Given the description of an element on the screen output the (x, y) to click on. 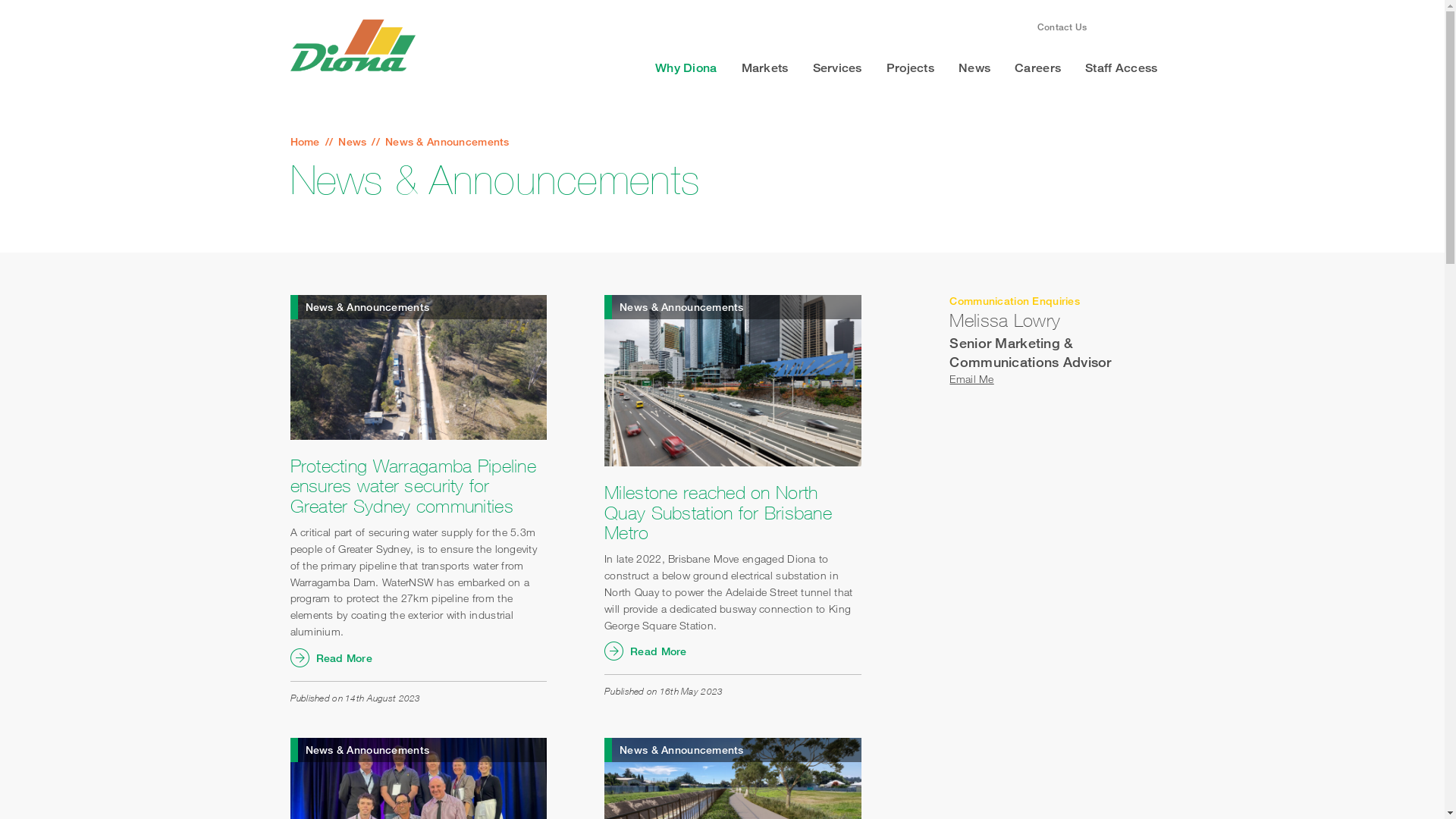
Read More Element type: text (732, 650)
Projects Element type: text (910, 68)
Careers Element type: text (1037, 68)
News Element type: text (352, 140)
Contact Us Element type: text (1062, 27)
Diona Element type: hover (351, 45)
Services Element type: text (837, 68)
Markets Element type: text (764, 68)
Home Element type: text (304, 140)
Email Me Element type: text (971, 378)
Read More Element type: text (417, 657)
Why Diona Element type: text (686, 68)
Staff Access Element type: text (1121, 68)
News Element type: text (974, 68)
